Given the description of an element on the screen output the (x, y) to click on. 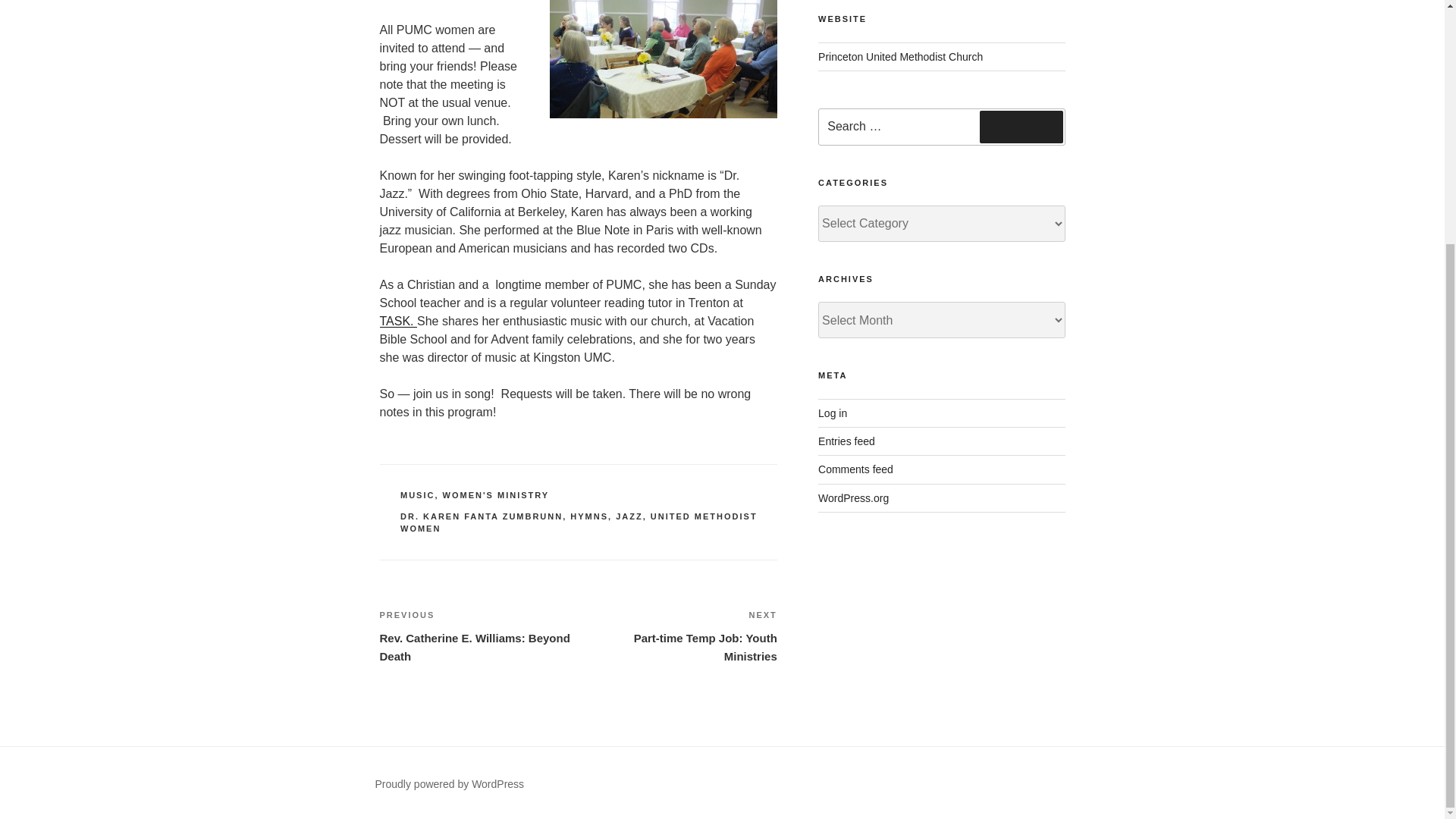
MUSIC (416, 494)
WOMEN'S MINISTRY (677, 636)
Entries feed (496, 494)
WordPress.org (846, 440)
HYMNS (853, 498)
TASK. (589, 515)
DR. KAREN FANTA ZUMBRUNN (397, 320)
Comments feed (481, 515)
JAZZ (855, 469)
Proudly powered by WordPress (629, 515)
UNITED METHODIST WOMEN (449, 784)
Search (578, 522)
Princeton United Methodist Church (1020, 126)
